Given the description of an element on the screen output the (x, y) to click on. 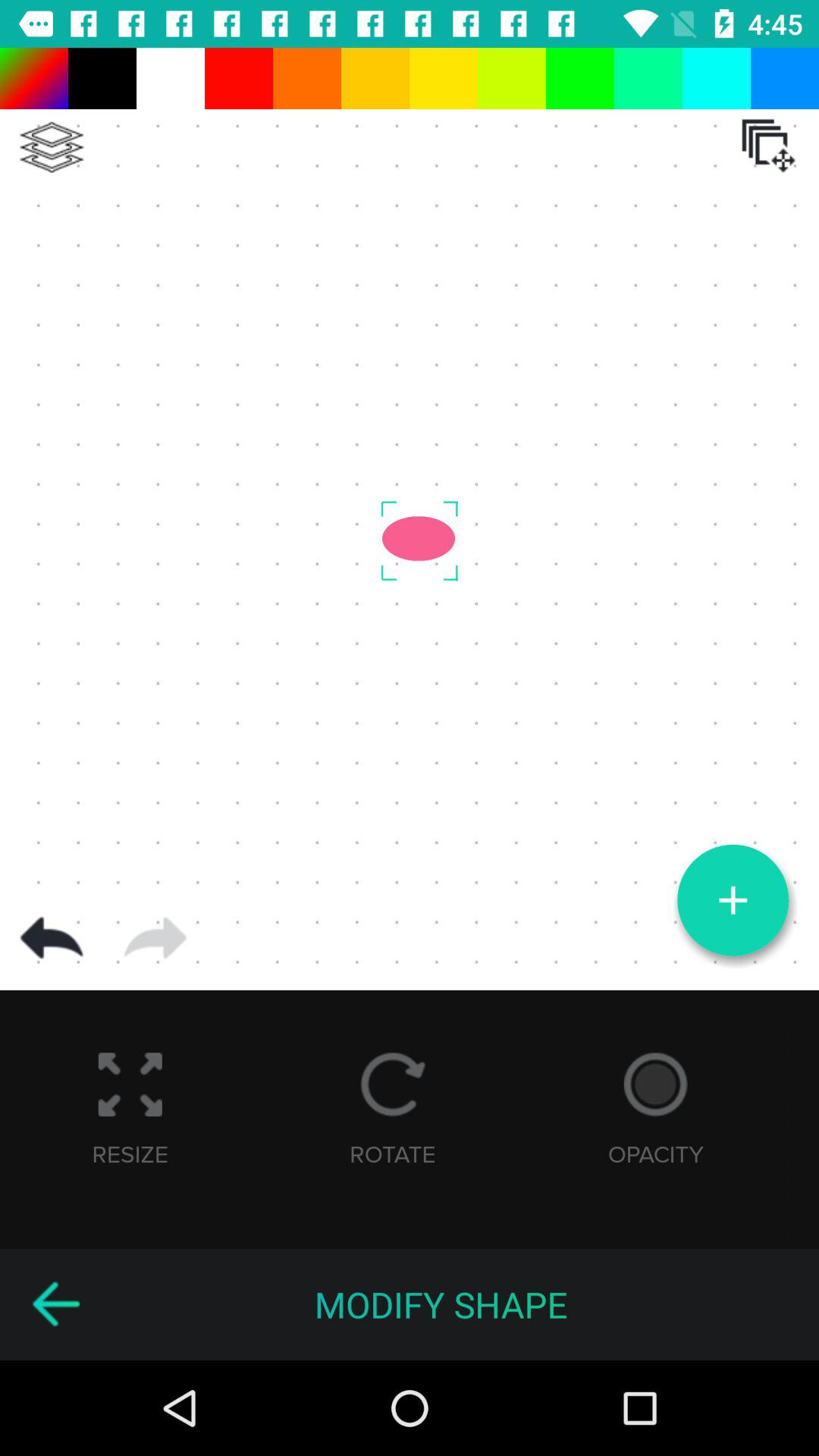
resize layers (768, 145)
